Given the description of an element on the screen output the (x, y) to click on. 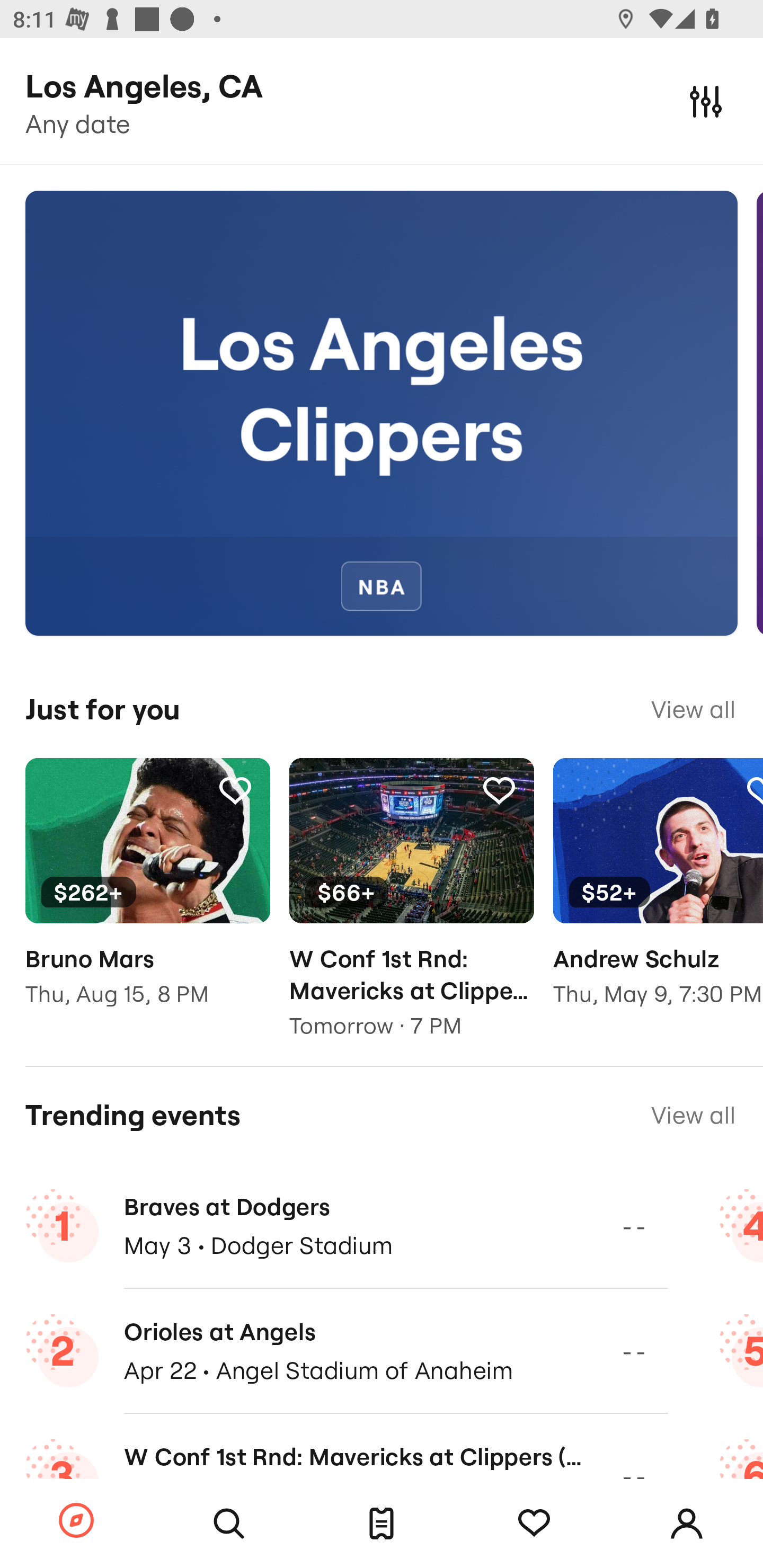
Filters (705, 100)
View all (693, 709)
Tracking $262+ Bruno Mars Thu, Aug 15, 8 PM (147, 895)
Tracking $52+ Andrew Schulz Thu, May 9, 7:30 PM (658, 895)
Tracking (234, 790)
Tracking (498, 790)
View all (693, 1114)
Browse (76, 1521)
Search (228, 1523)
Tickets (381, 1523)
Tracking (533, 1523)
Account (686, 1523)
